Given the description of an element on the screen output the (x, y) to click on. 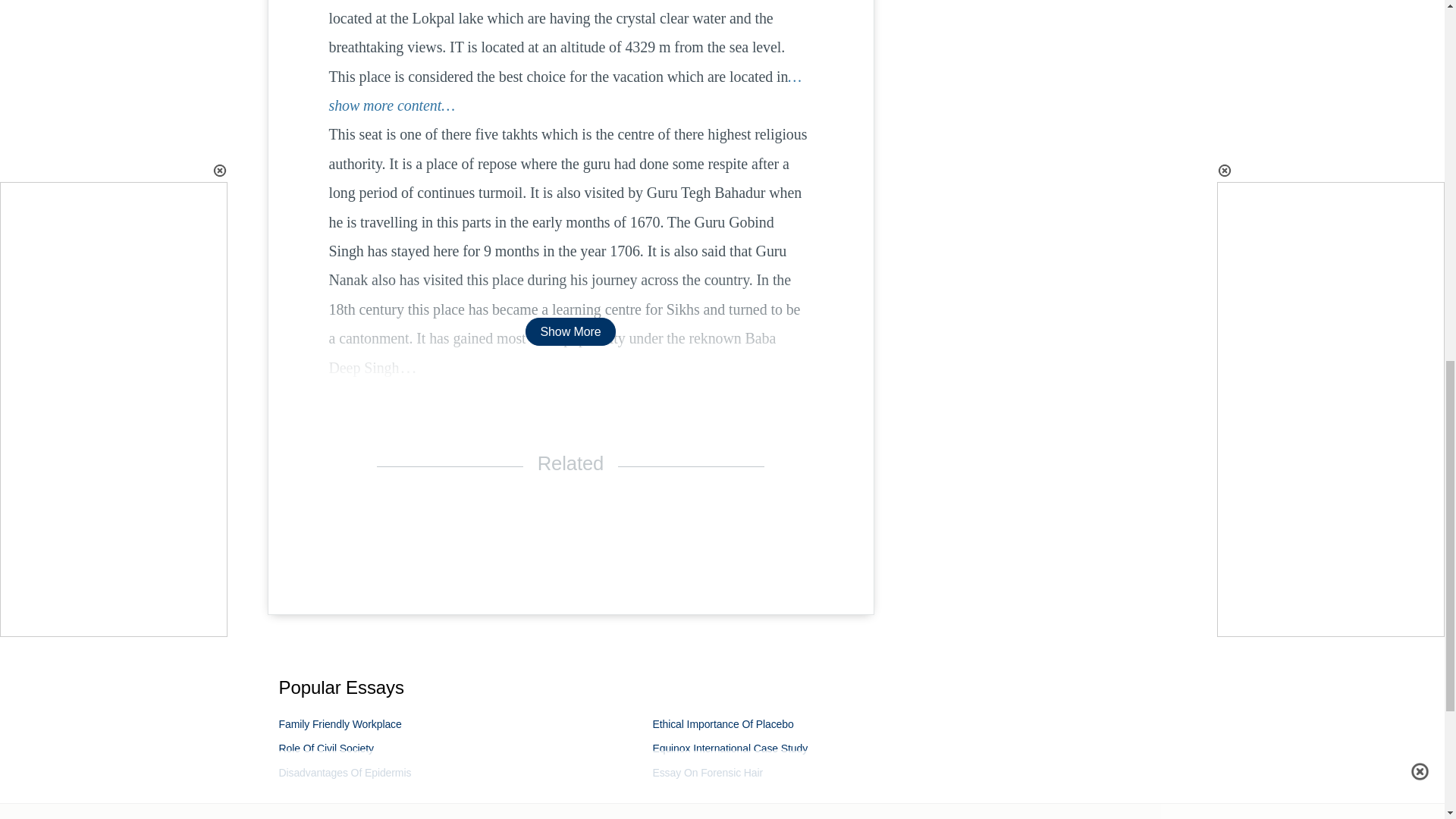
Show More (569, 331)
Ethical Importance Of Placebo (722, 724)
Ethical Importance Of Placebo (722, 724)
Disadvantages Of Epidermis (345, 772)
Essay On Forensic Hair (707, 772)
Role Of Civil Society (326, 748)
Family Friendly Workplace (340, 724)
Essay On Forensic Hair (707, 772)
Equinox International Case Study (730, 748)
Equinox International Case Study (730, 748)
Family Friendly Workplace (340, 724)
Disadvantages Of Epidermis (345, 772)
Role Of Civil Society (326, 748)
